Given the description of an element on the screen output the (x, y) to click on. 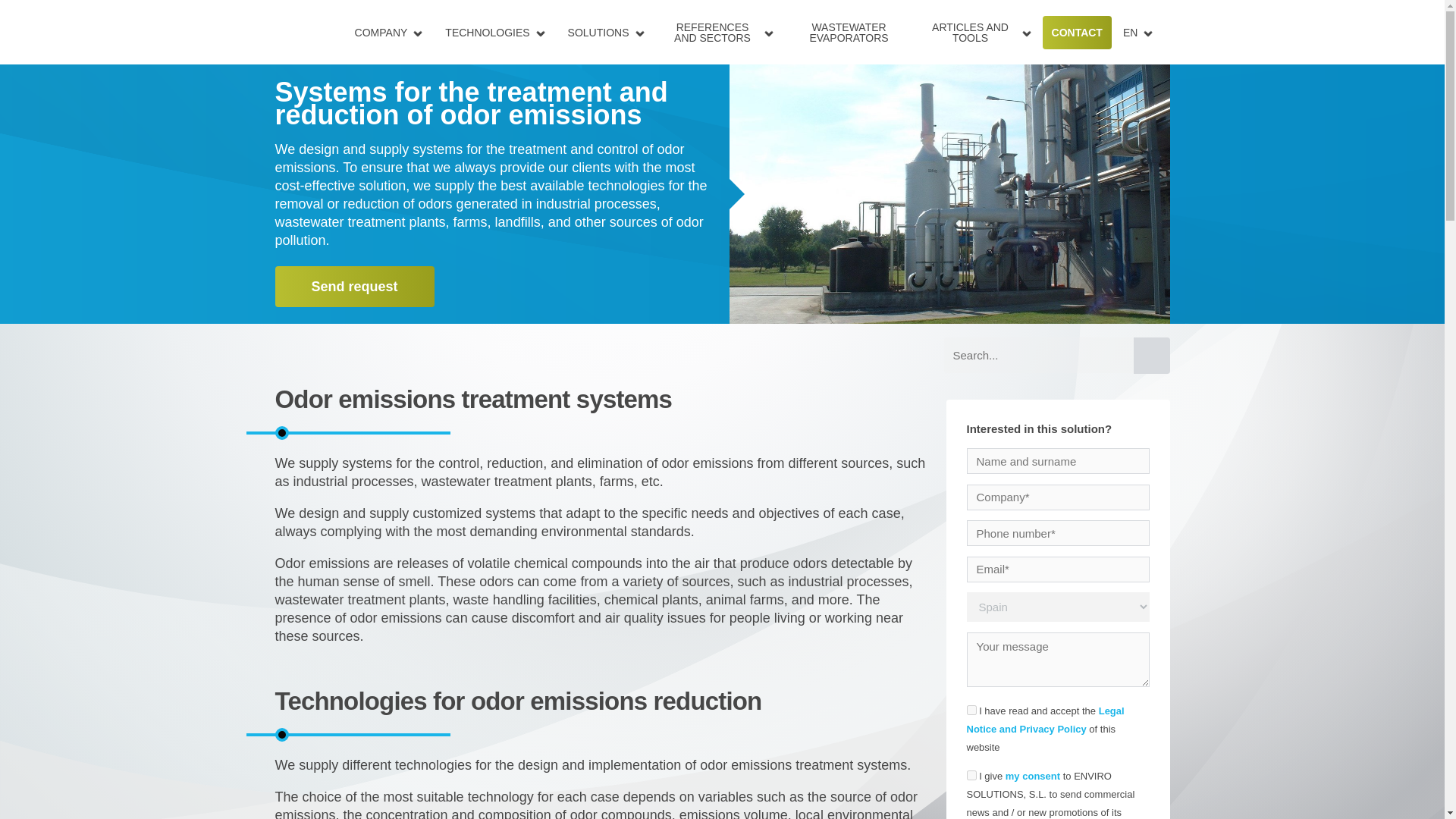
1 (970, 775)
1 (970, 709)
Industrial wastewater and air emissions treatment (88, 30)
COMPANY (381, 31)
TECHNOLOGIES (486, 31)
Search: (1037, 355)
